Given the description of an element on the screen output the (x, y) to click on. 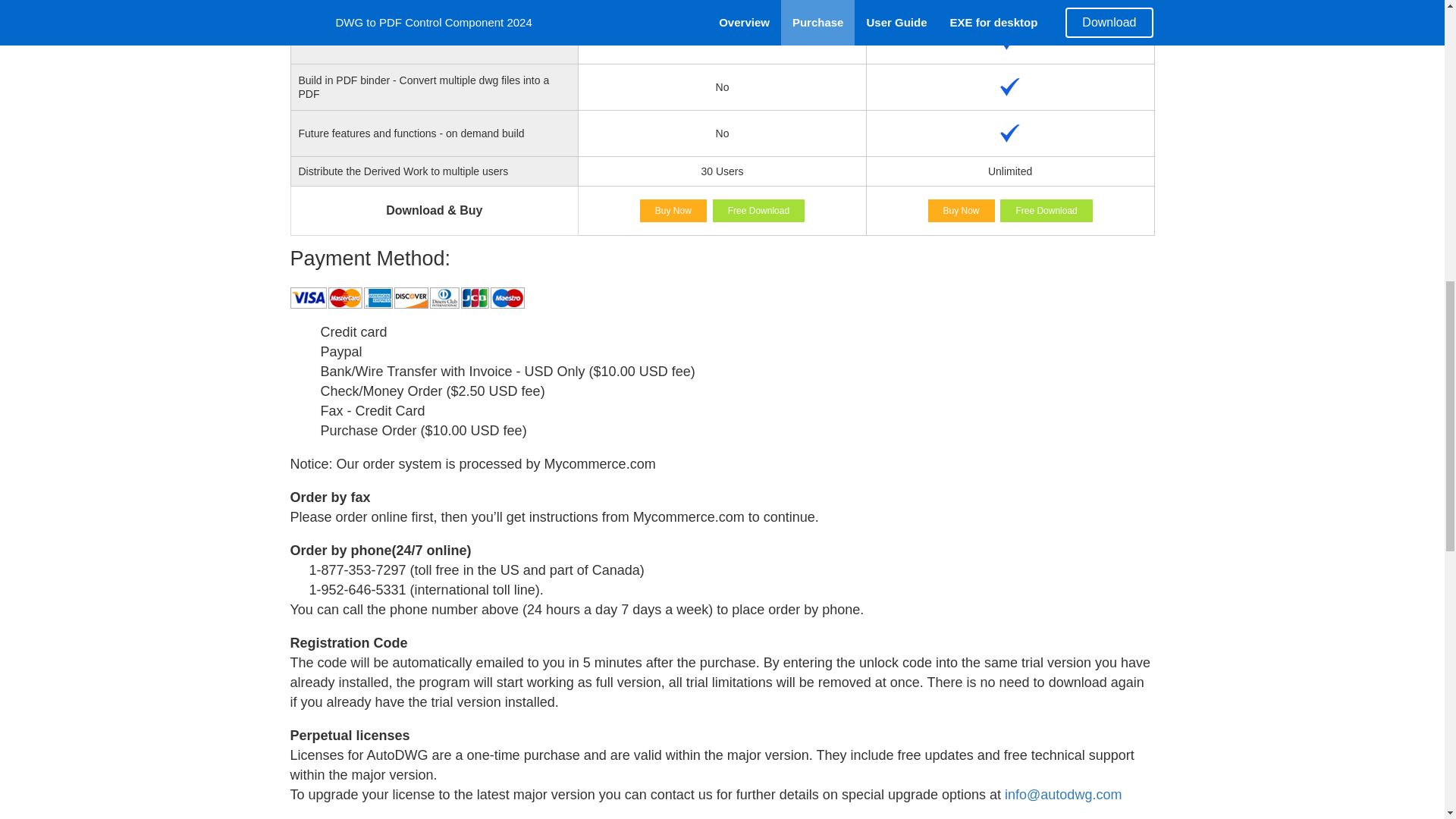
DWG2PDFX (673, 210)
DWG2PDFXPro (961, 210)
